Given the description of an element on the screen output the (x, y) to click on. 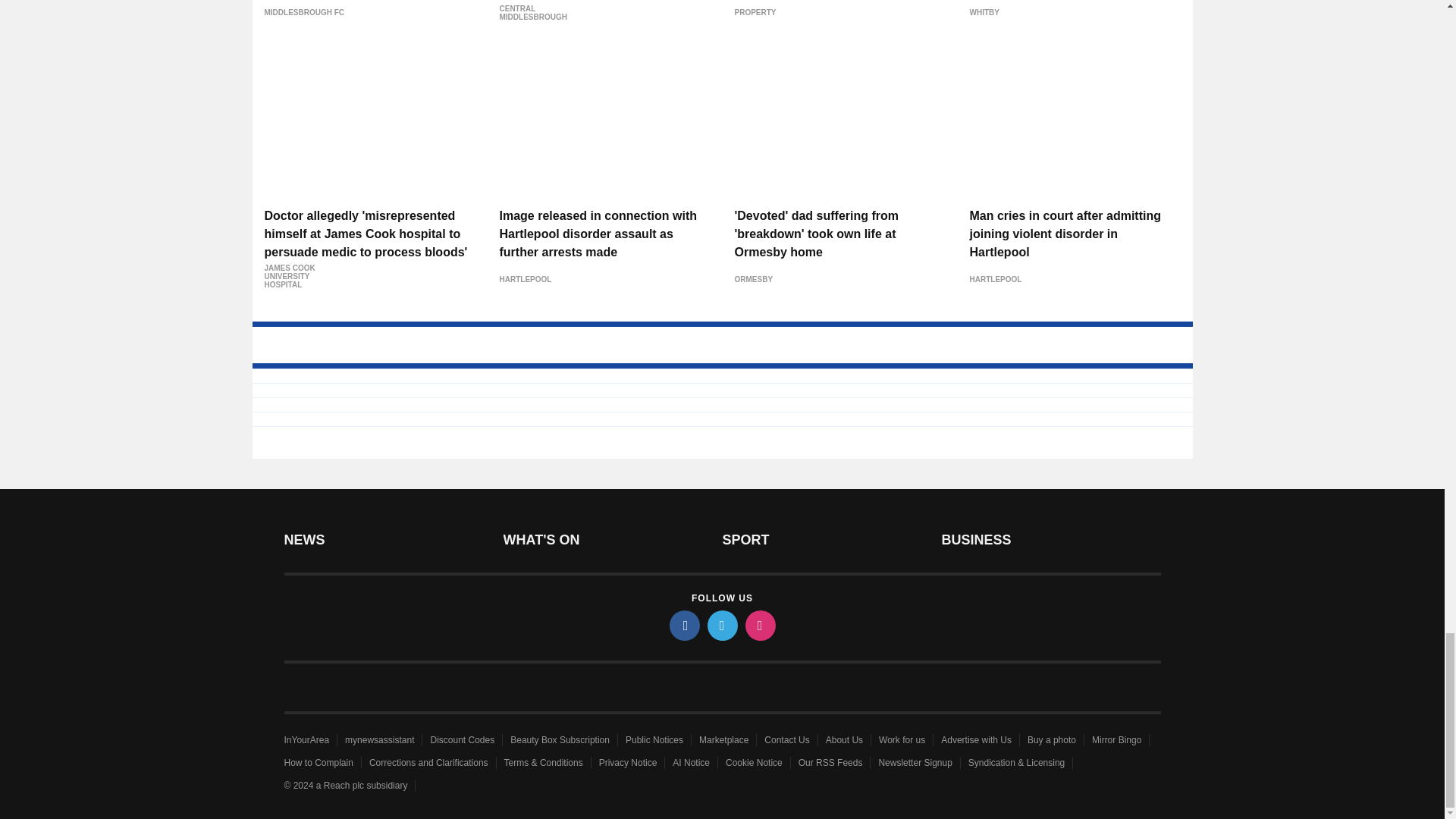
instagram (759, 625)
twitter (721, 625)
facebook (683, 625)
